Given the description of an element on the screen output the (x, y) to click on. 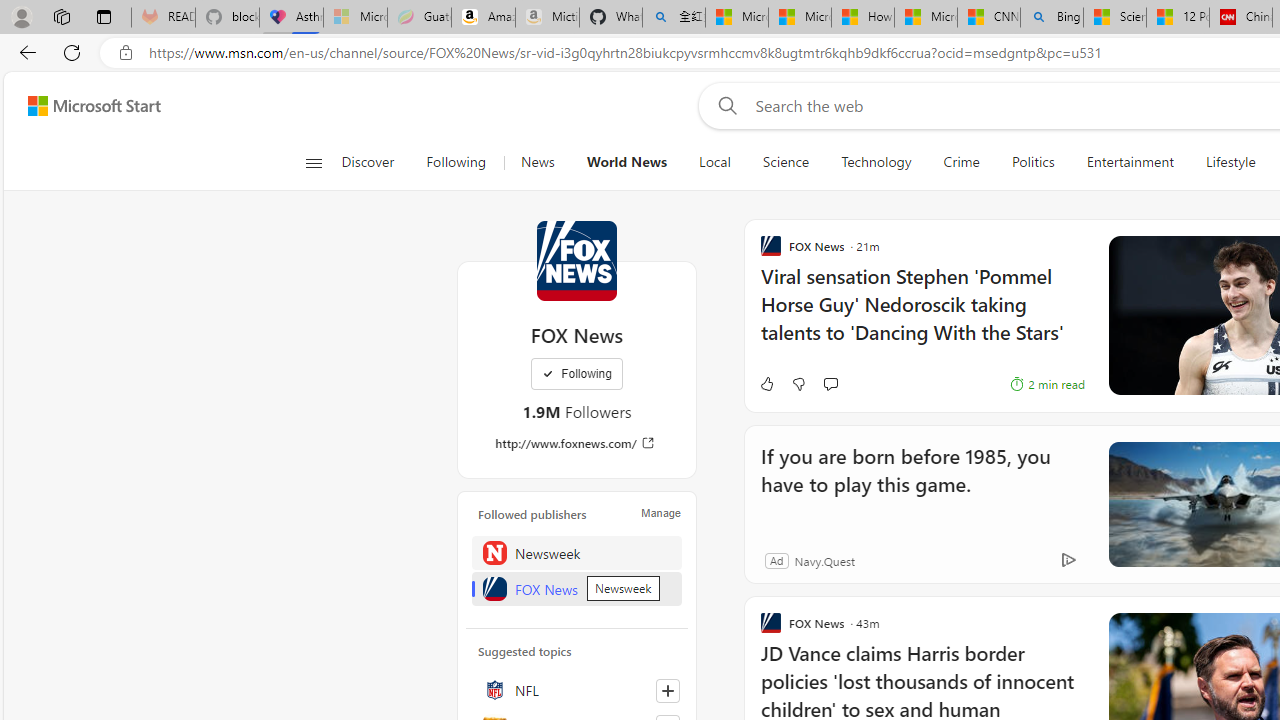
FOX News (577, 588)
